Given the description of an element on the screen output the (x, y) to click on. 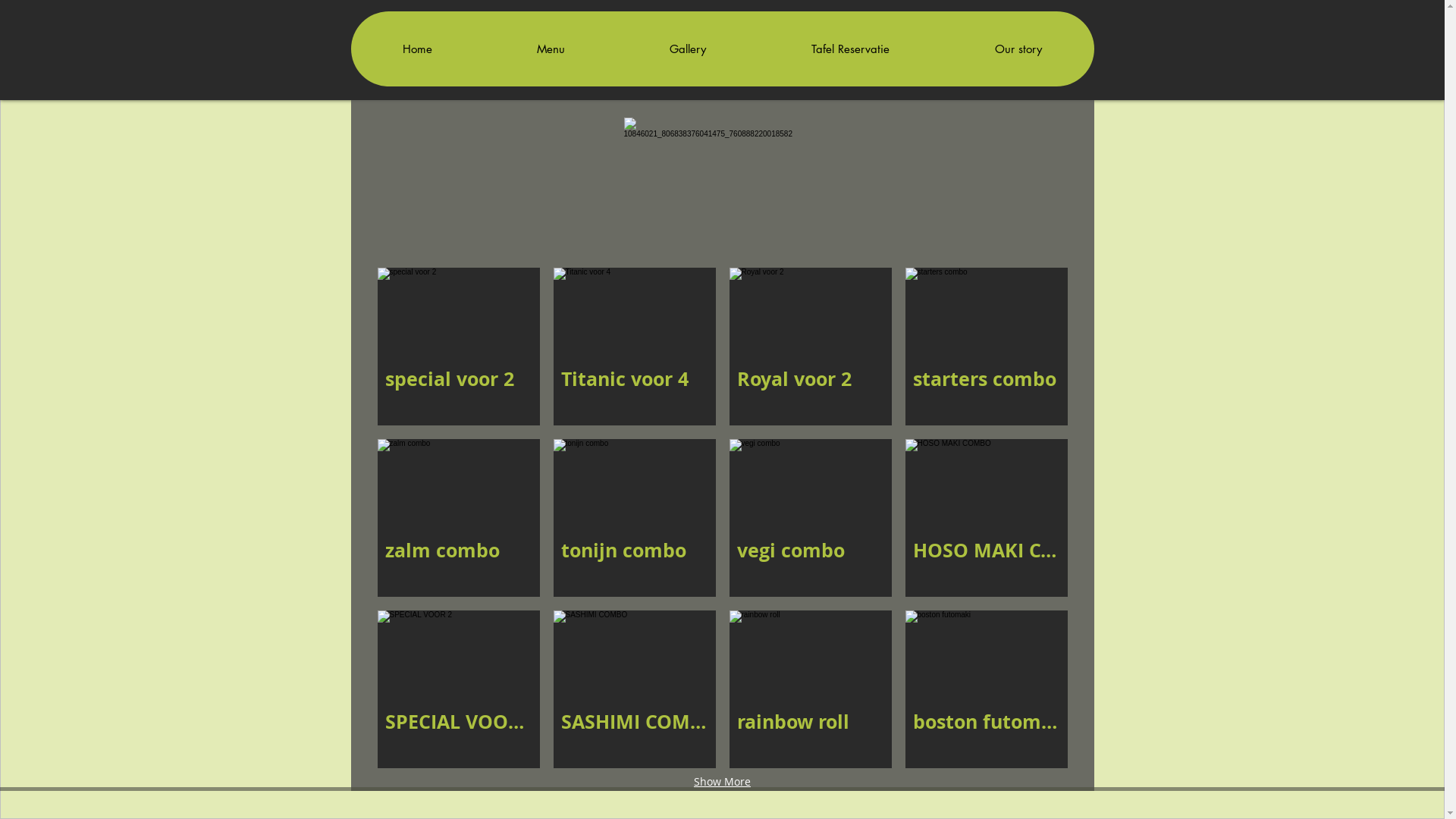
Show More Element type: text (722, 781)
Our story Element type: text (1017, 48)
Tafel Reservatie Element type: text (849, 48)
Gallery Element type: text (687, 48)
Menu Element type: text (549, 48)
Home Element type: text (416, 48)
